Given the description of an element on the screen output the (x, y) to click on. 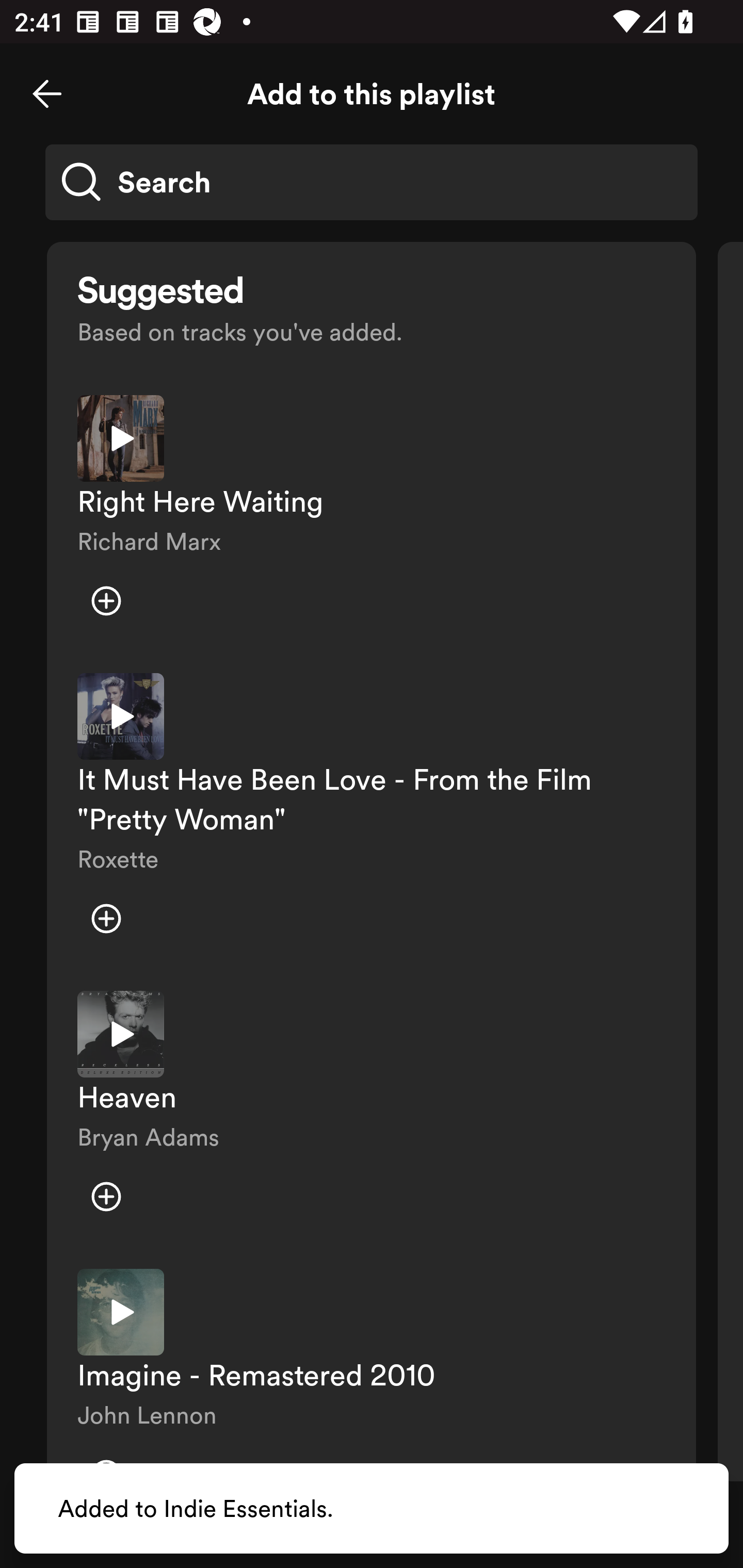
Close (46, 93)
Search (371, 181)
Play preview (120, 438)
Add item (106, 601)
Play preview (120, 716)
Add item (106, 917)
Play preview Heaven Bryan Adams Add item (371, 1115)
Play preview (120, 1033)
Add item (106, 1197)
Play preview (120, 1311)
